Given the description of an element on the screen output the (x, y) to click on. 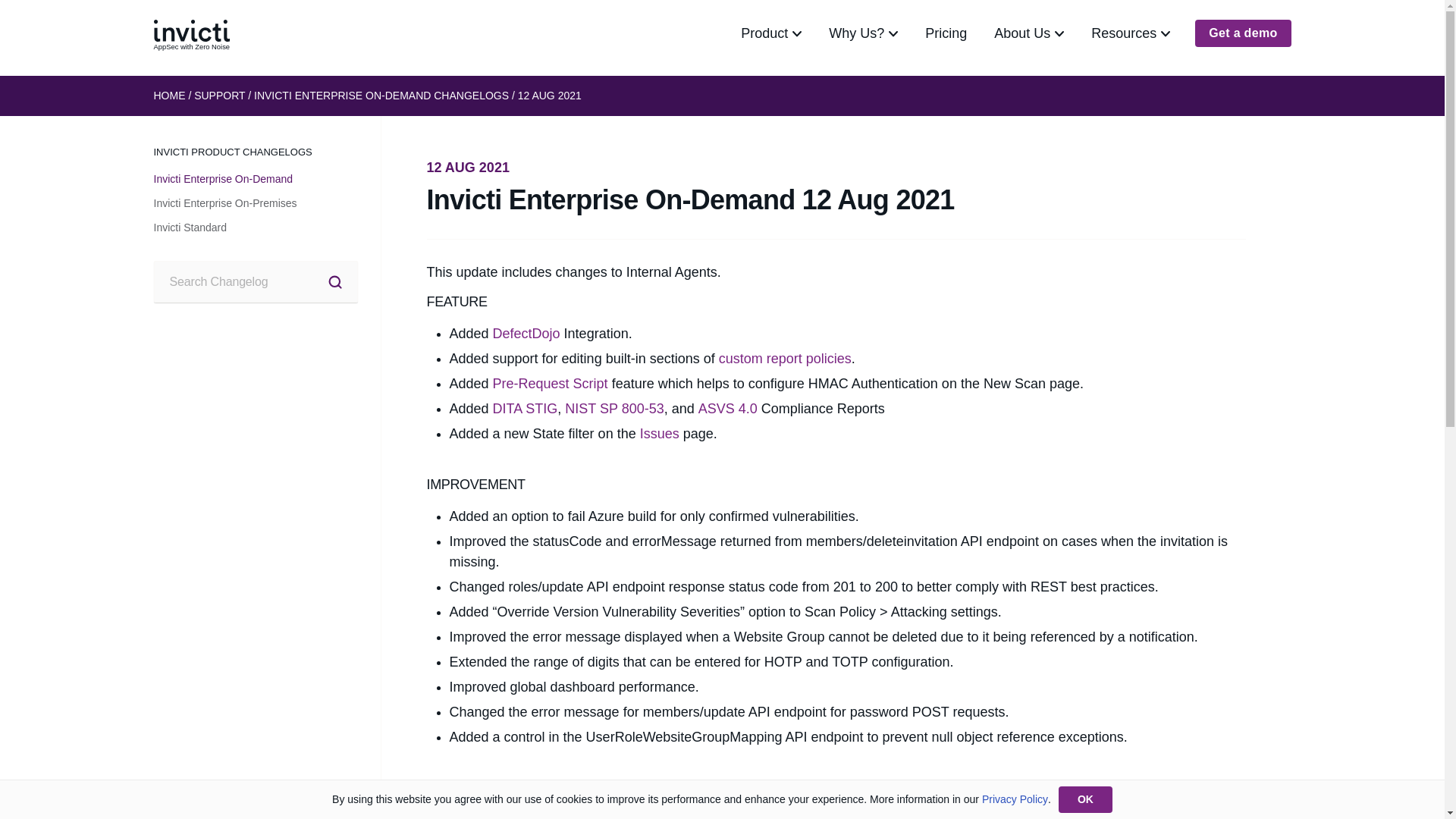
OK (1085, 799)
Why Us? (863, 33)
Get a demo (1242, 32)
AppSec with Zero Noise (190, 32)
Pricing (945, 33)
Product (770, 33)
About Us (1028, 33)
Resources (1130, 33)
